Given the description of an element on the screen output the (x, y) to click on. 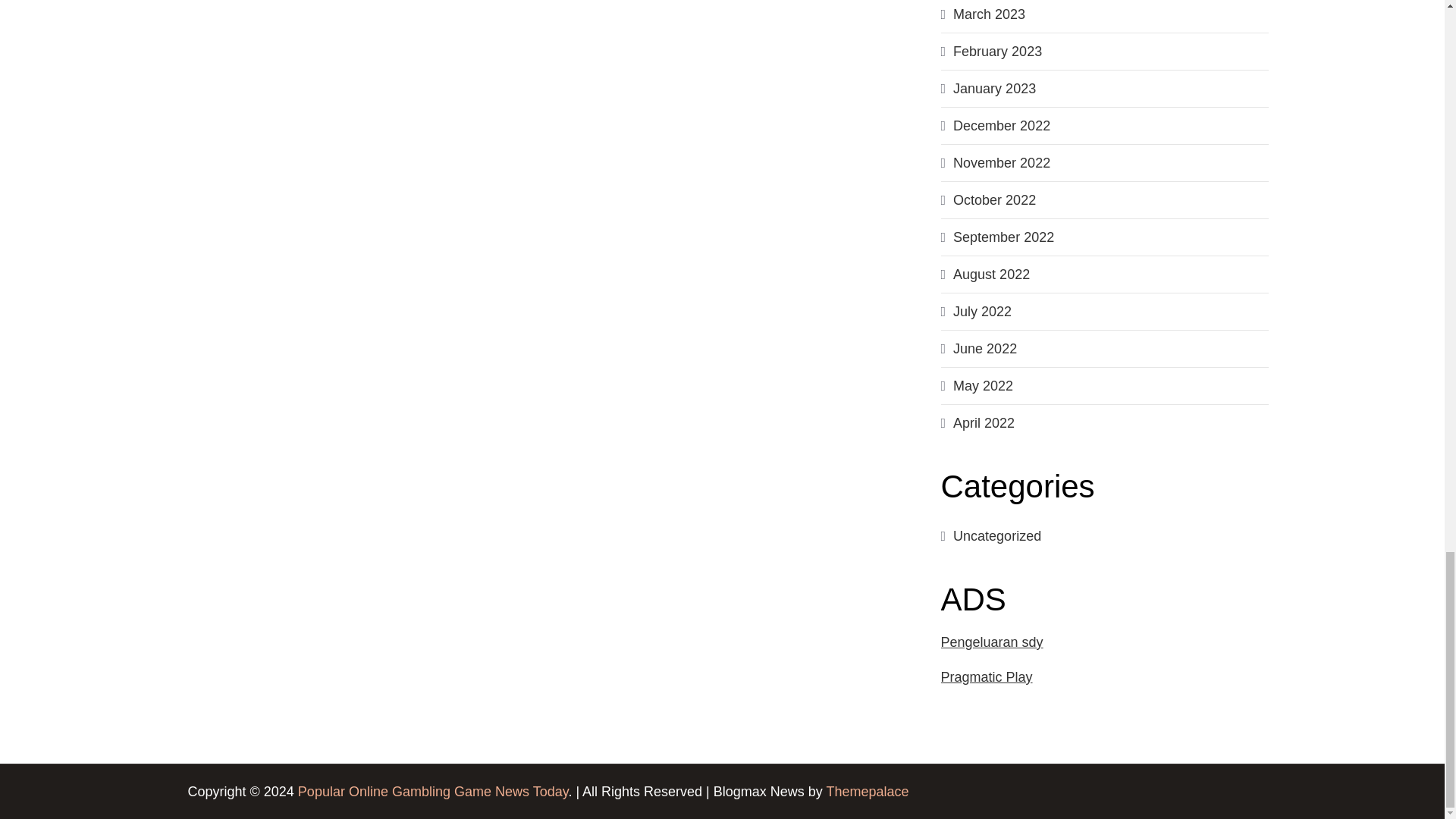
December 2022 (1001, 125)
February 2023 (997, 51)
March 2023 (989, 14)
January 2023 (994, 88)
November 2022 (1001, 162)
